Given the description of an element on the screen output the (x, y) to click on. 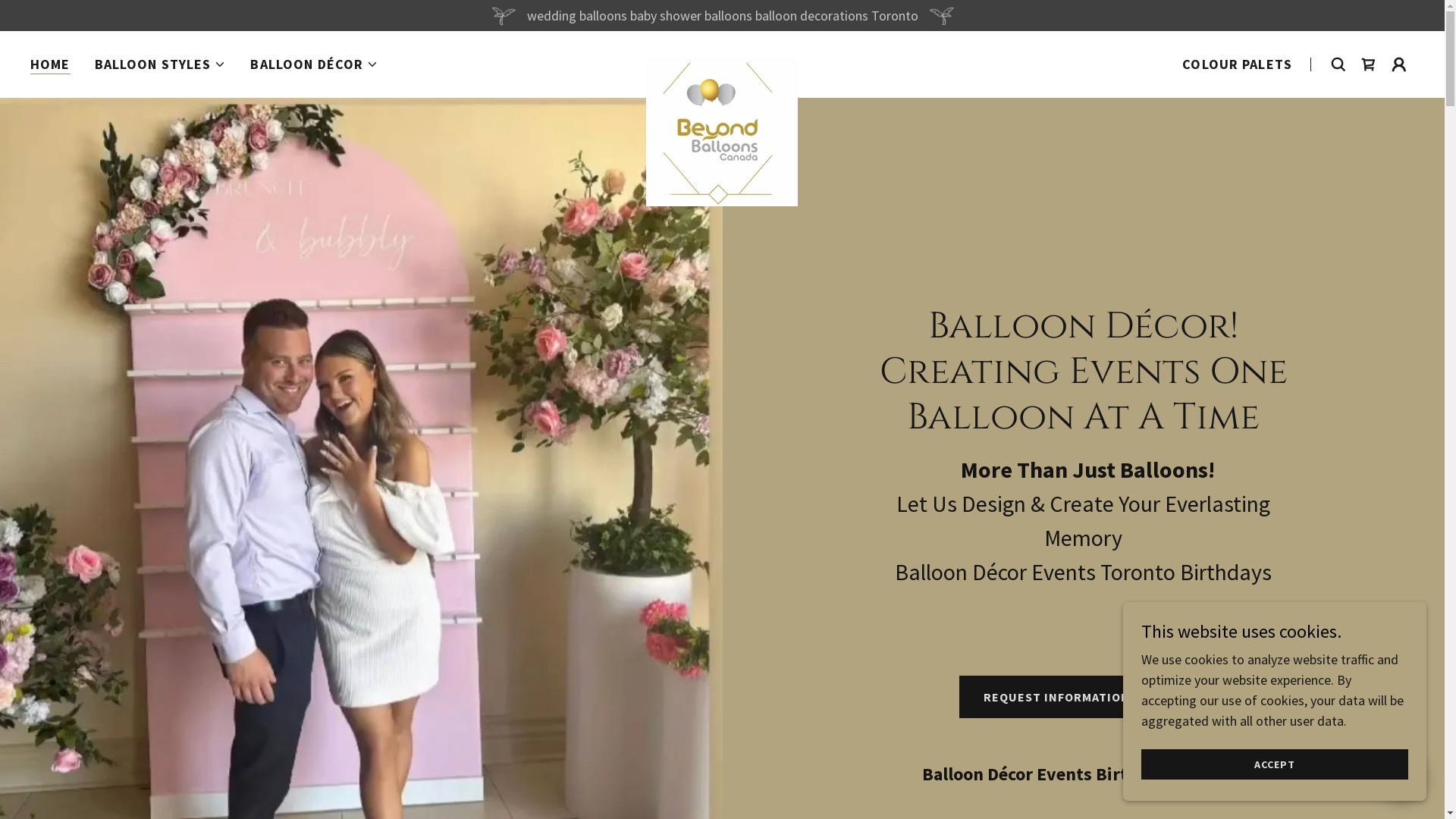
Beyond Balloons          
Canada  Element type: hover (721, 61)
ACCEPT Element type: text (1274, 764)
REQUEST INFORMATION / QUOTE Element type: text (1083, 696)
BALLOON STYLES Element type: text (160, 64)
COLOUR PALETS Element type: text (1236, 64)
HOME Element type: text (50, 64)
